Given the description of an element on the screen output the (x, y) to click on. 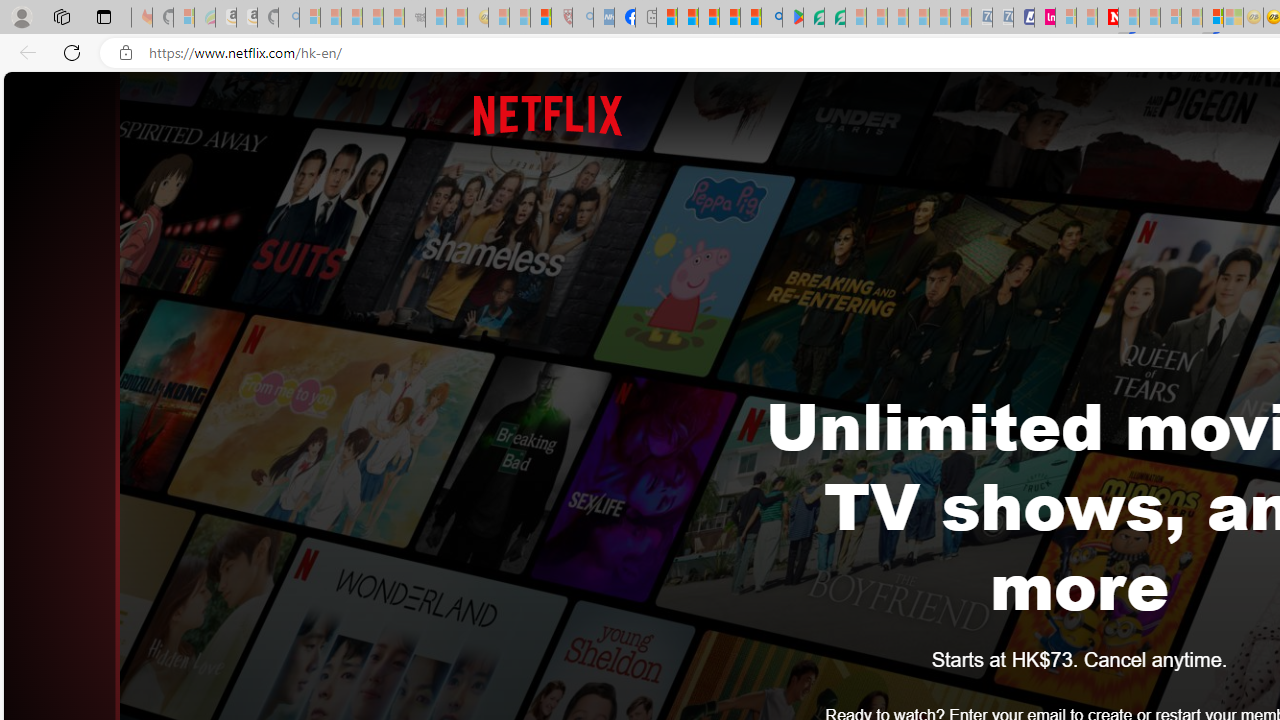
Jobs - lastminute.com Investor Portal (1044, 17)
Pets - MSN (729, 17)
